Given the description of an element on the screen output the (x, y) to click on. 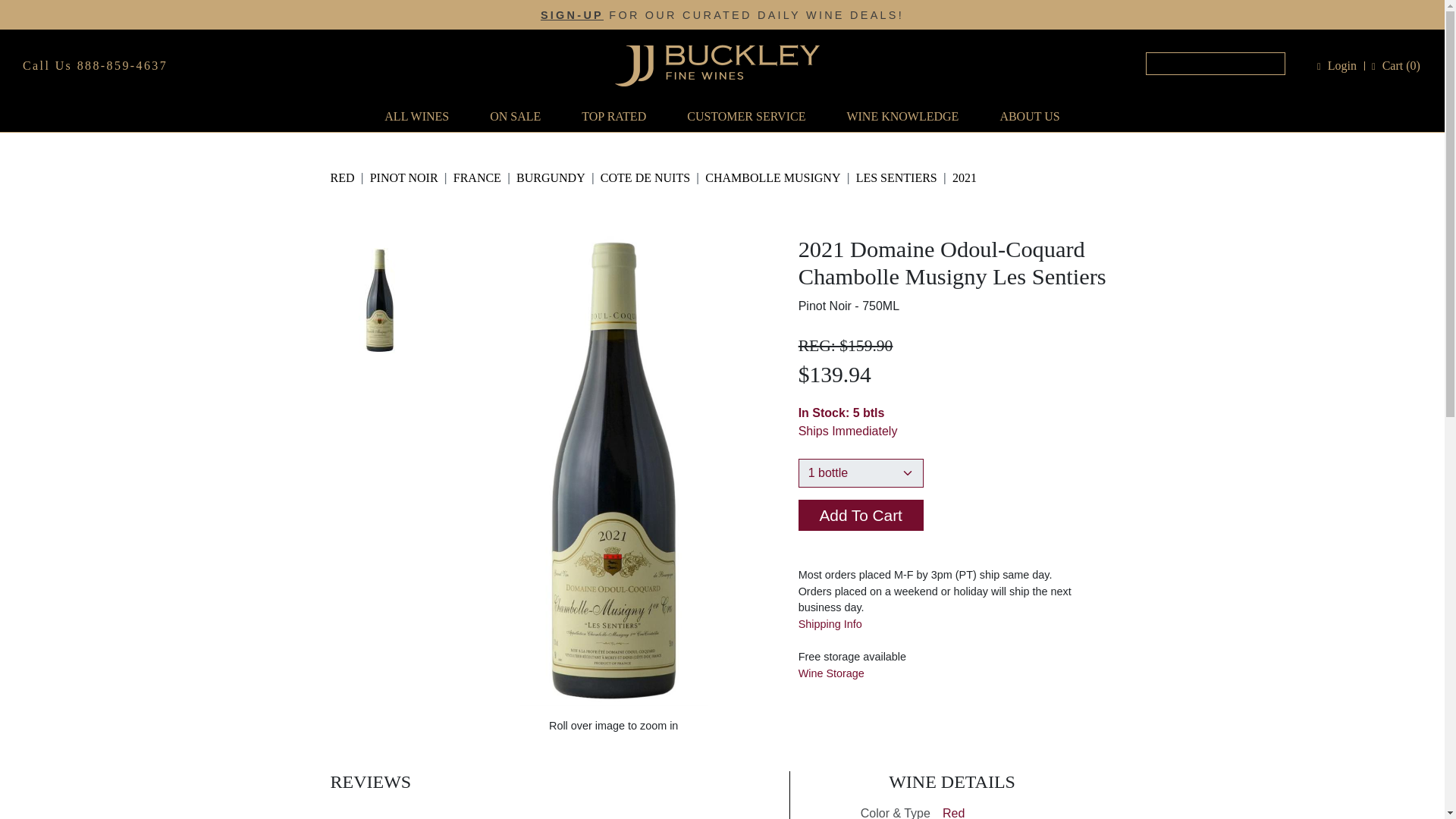
Login (1341, 65)
JJBuckley (716, 65)
ALL WINES (416, 116)
Search (1215, 63)
JJ Buckley Fine Wines (716, 65)
SIGN-UP FOR OUR CURATED DAILY WINE DEALS! (722, 14)
